Given the description of an element on the screen output the (x, y) to click on. 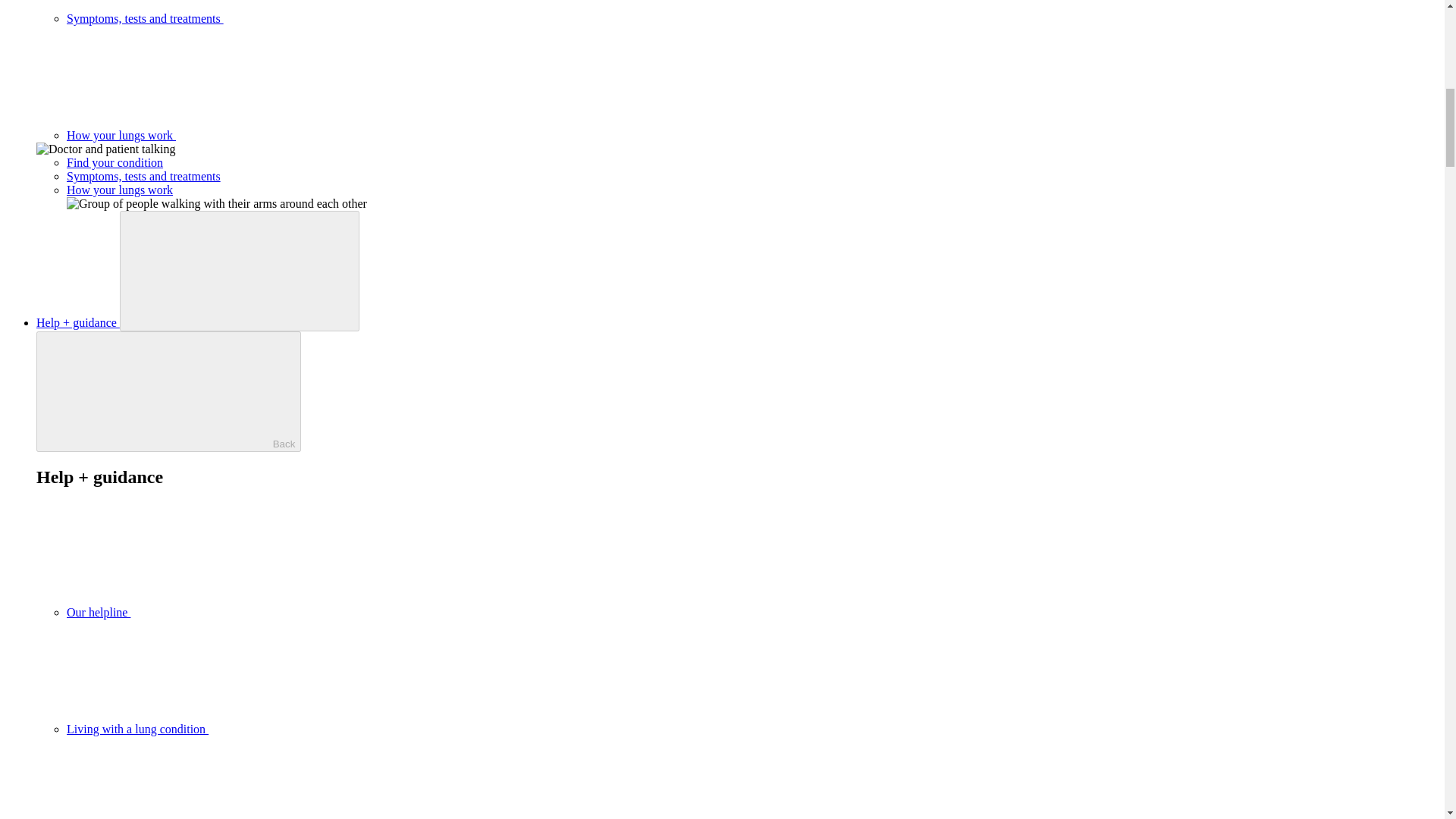
Symptoms, tests and treatments (143, 175)
Living with a lung condition (250, 728)
Back (168, 391)
Living with a lung condition (250, 728)
Symptoms, tests and treatments (258, 18)
How your lungs work (234, 134)
Symptoms, tests and treatments (258, 18)
Our helpline (212, 612)
Find your condition (114, 162)
How your lungs work (234, 134)
